Given the description of an element on the screen output the (x, y) to click on. 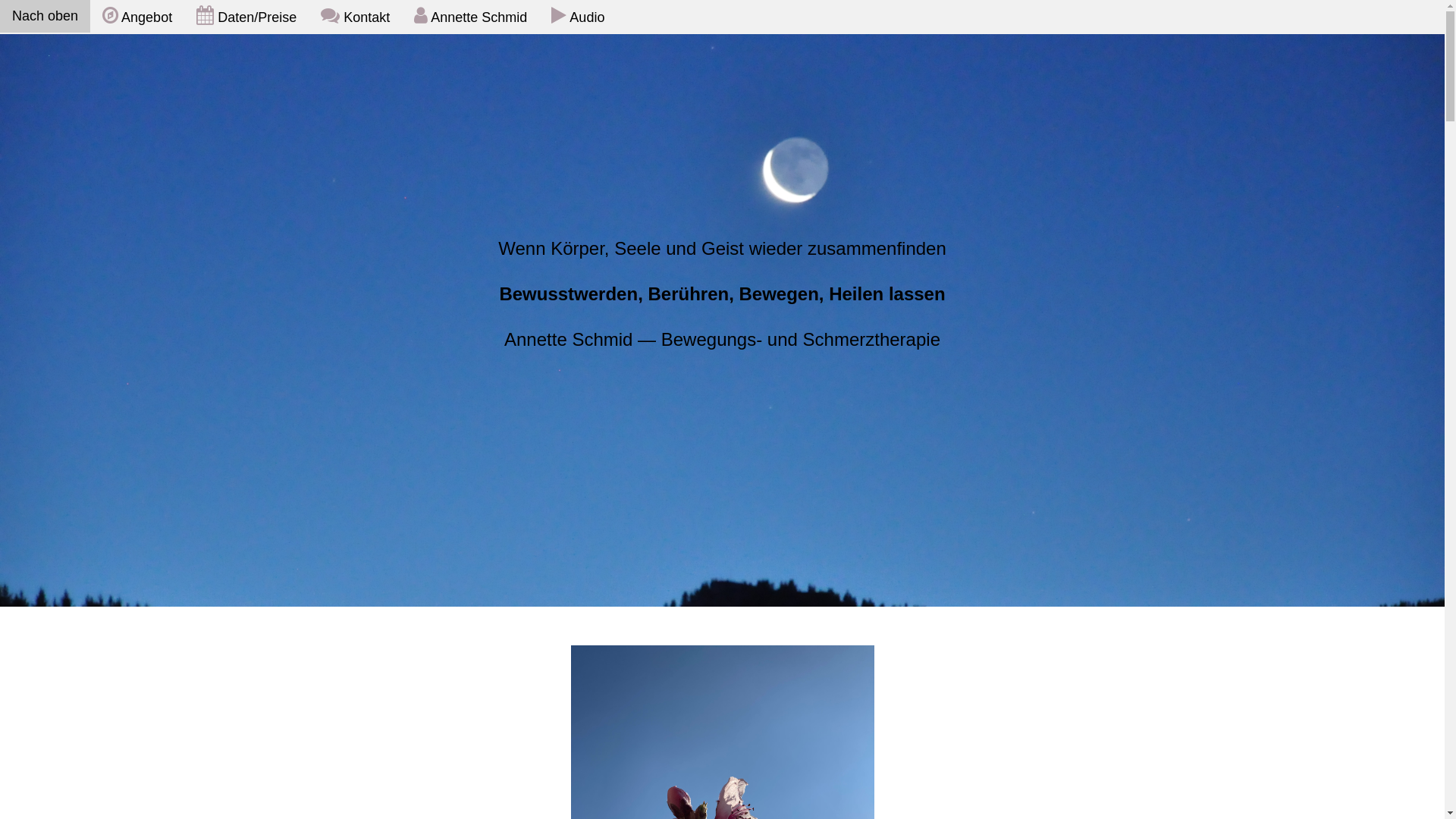
Kontakt Element type: text (354, 17)
Audio Element type: text (577, 17)
Angebot Element type: text (137, 17)
Daten/Preise Element type: text (246, 17)
Annette Schmid Element type: text (470, 17)
Nach oben Element type: text (45, 16)
